Given the description of an element on the screen output the (x, y) to click on. 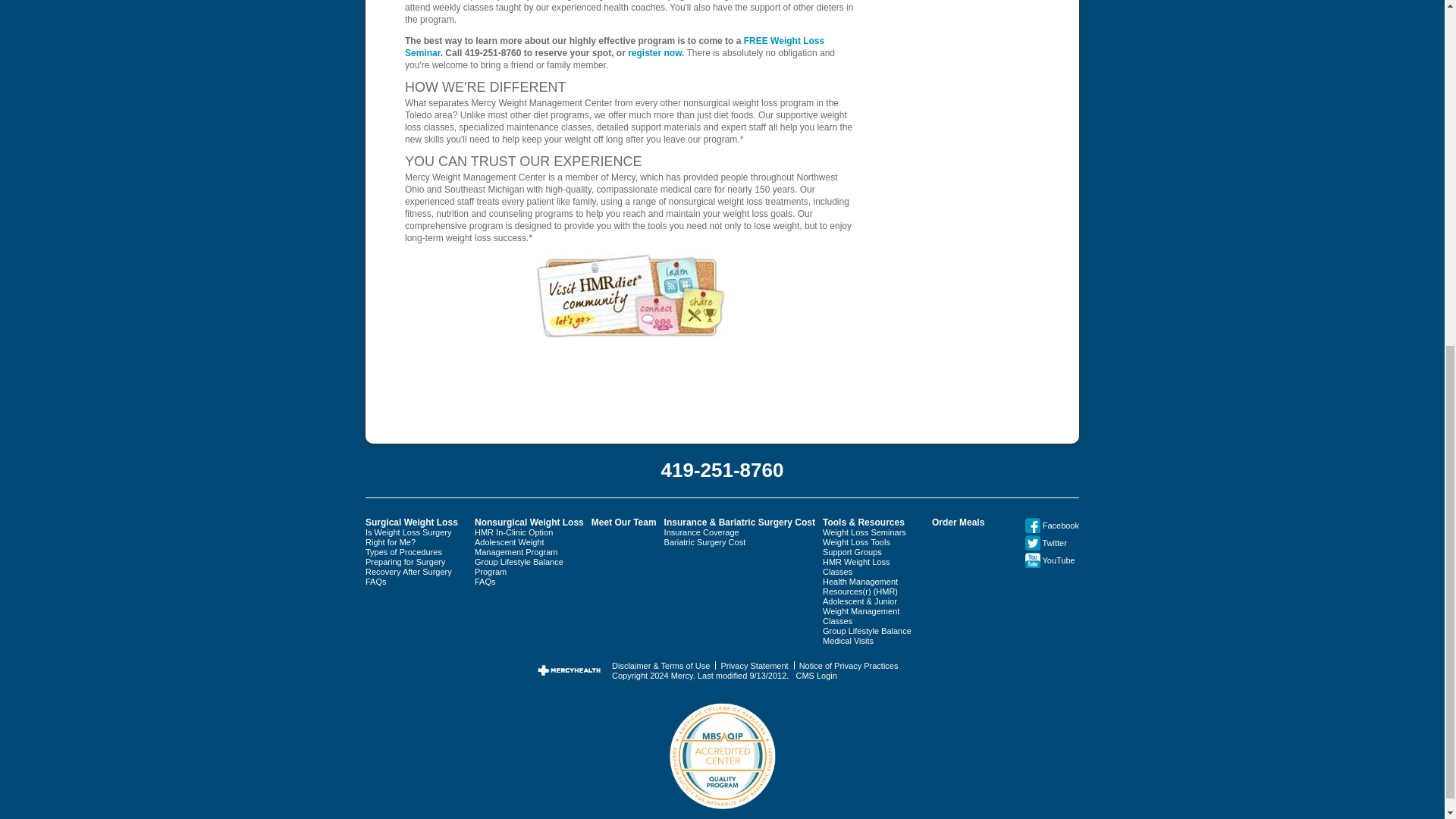
Facebook (1051, 524)
YouTube (1050, 560)
Facebook (1033, 525)
FREE Weight Loss Seminar (614, 47)
register now (654, 52)
YouTube (1033, 560)
Twitter (1033, 541)
